Given the description of an element on the screen output the (x, y) to click on. 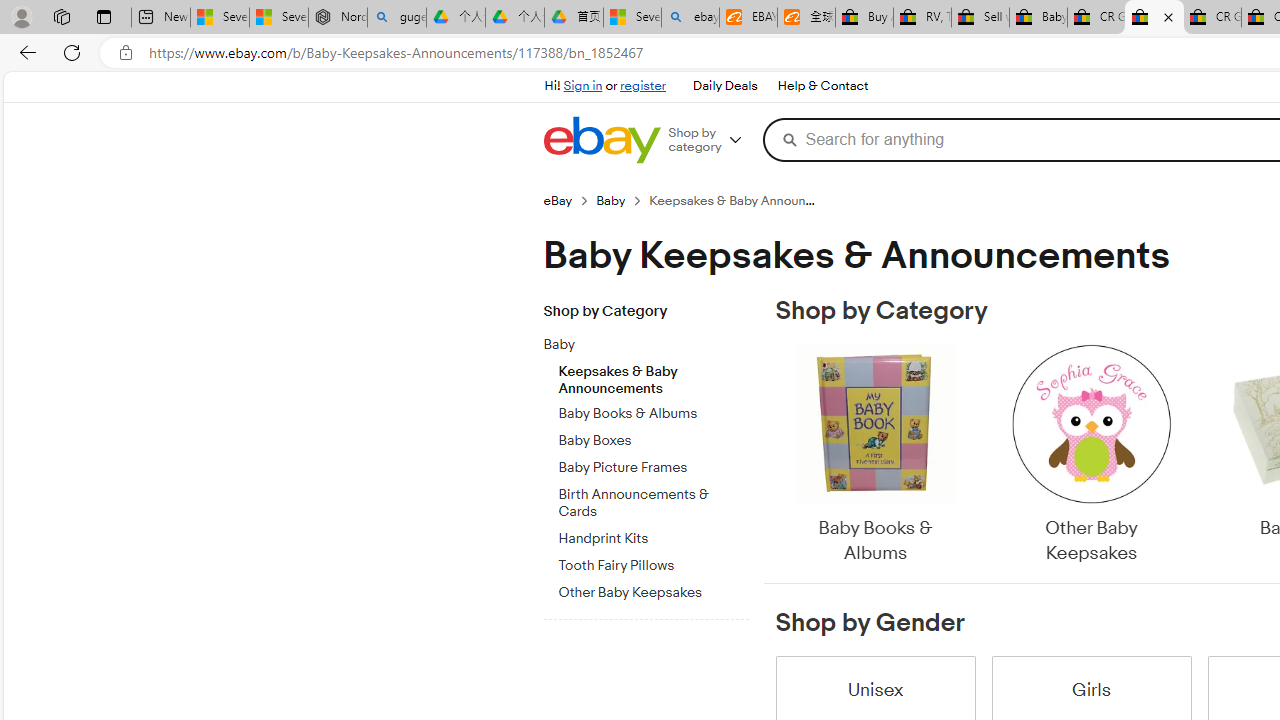
Daily Deals (724, 85)
Baby Picture Frames (653, 468)
eBay (569, 200)
Daily Deals (724, 86)
RV, Trailer & Camper Steps & Ladders for sale | eBay (922, 17)
Help & Contact (821, 85)
Workspaces (61, 16)
Personal Profile (21, 16)
View site information (125, 53)
Birth Announcements & Cards (653, 500)
Shop by category (711, 140)
